Given the description of an element on the screen output the (x, y) to click on. 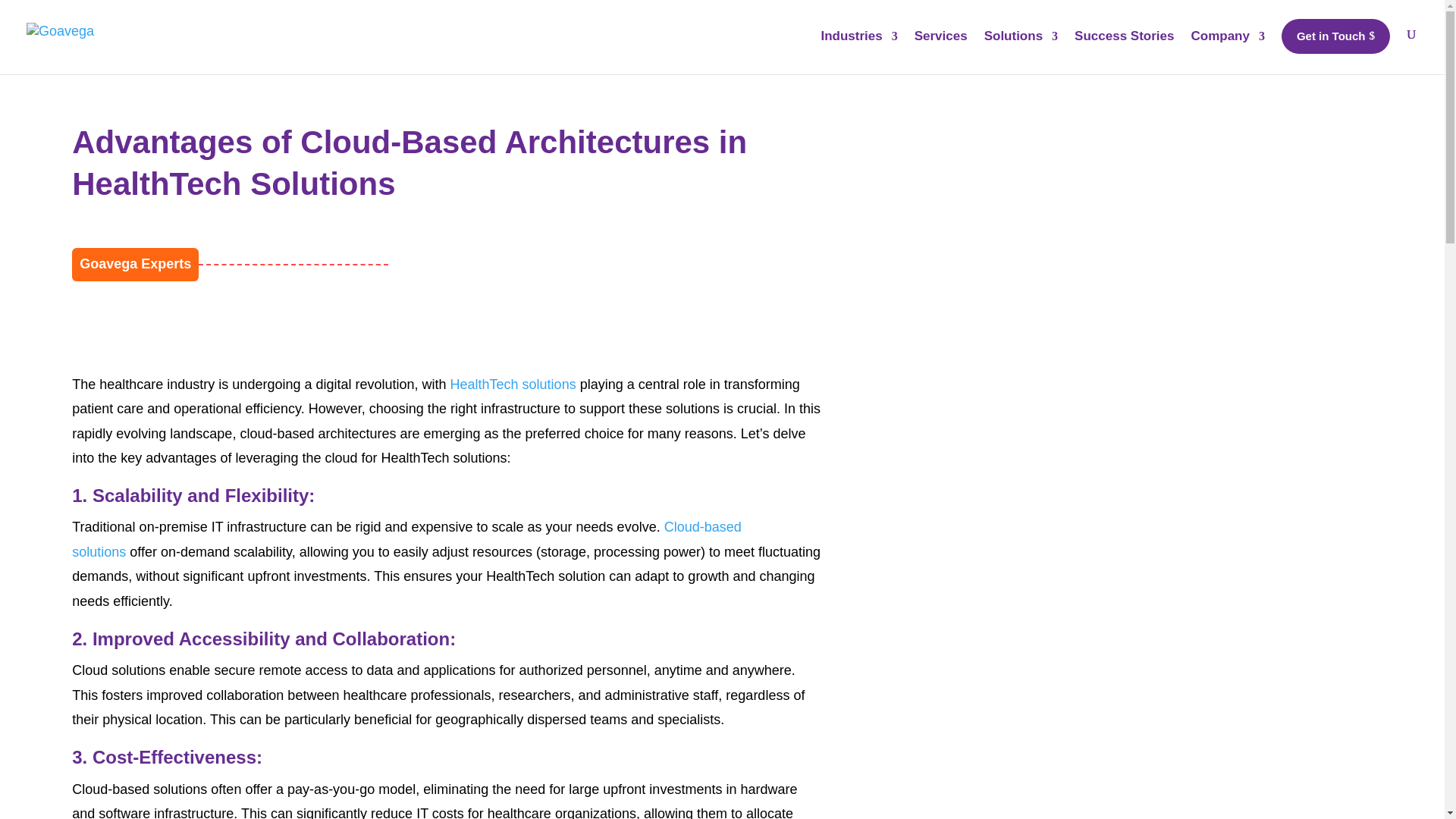
Company (1227, 49)
Industries (858, 49)
Get in Touch (1335, 36)
Success Stories (1123, 49)
Services (941, 49)
Solutions (1021, 49)
